Given the description of an element on the screen output the (x, y) to click on. 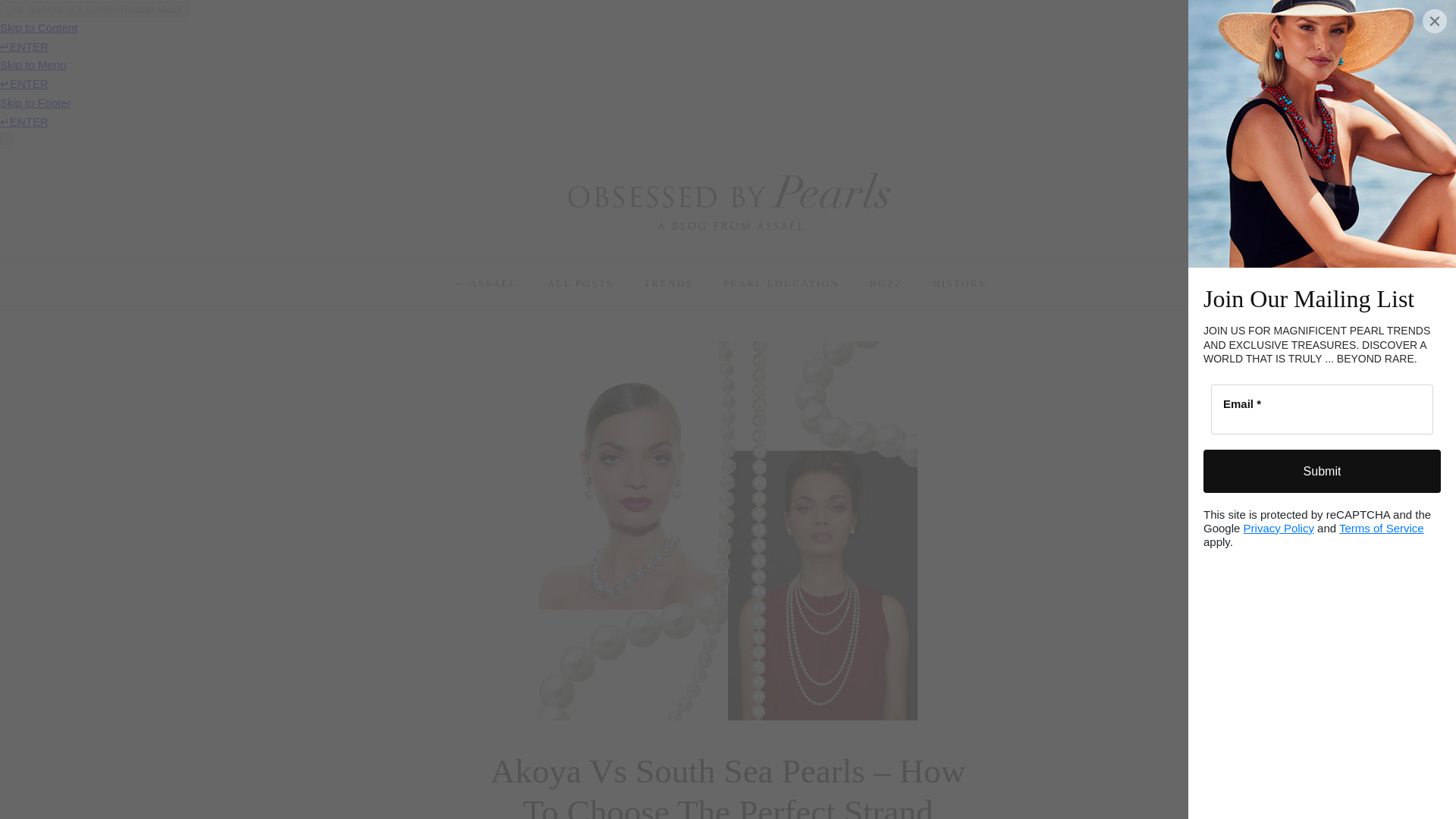
HISTORY (959, 283)
ALL POSTS (580, 283)
TRENDS (668, 283)
PEARL EDUCATION (781, 283)
BUZZ (885, 283)
